Given the description of an element on the screen output the (x, y) to click on. 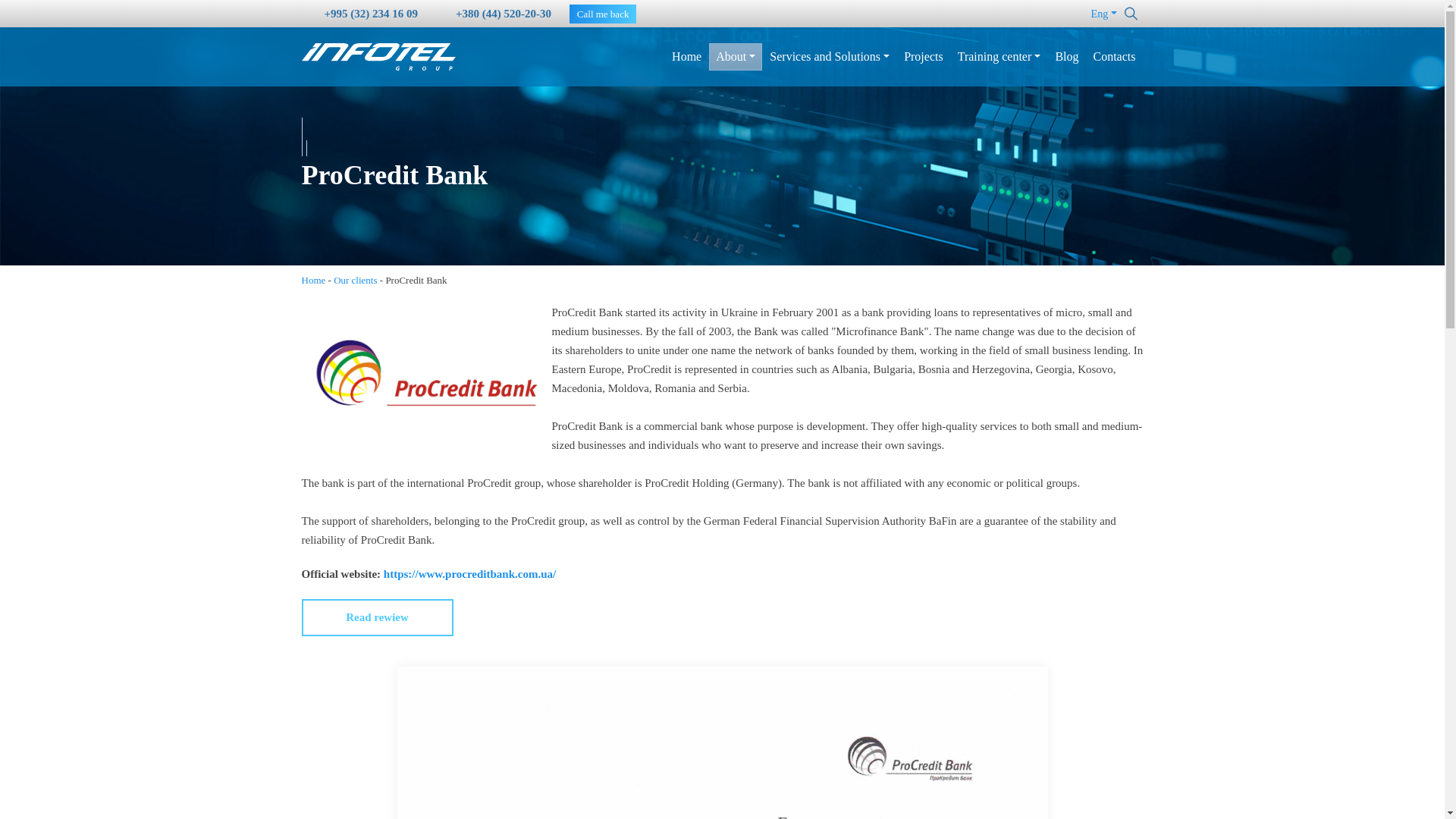
About (735, 56)
Our clients (355, 280)
Eng (1103, 13)
Projects (923, 56)
Services and Solutions (829, 56)
Home (686, 56)
Blog (1066, 56)
Home (313, 279)
Contacts (1113, 56)
Home (313, 280)
